Given the description of an element on the screen output the (x, y) to click on. 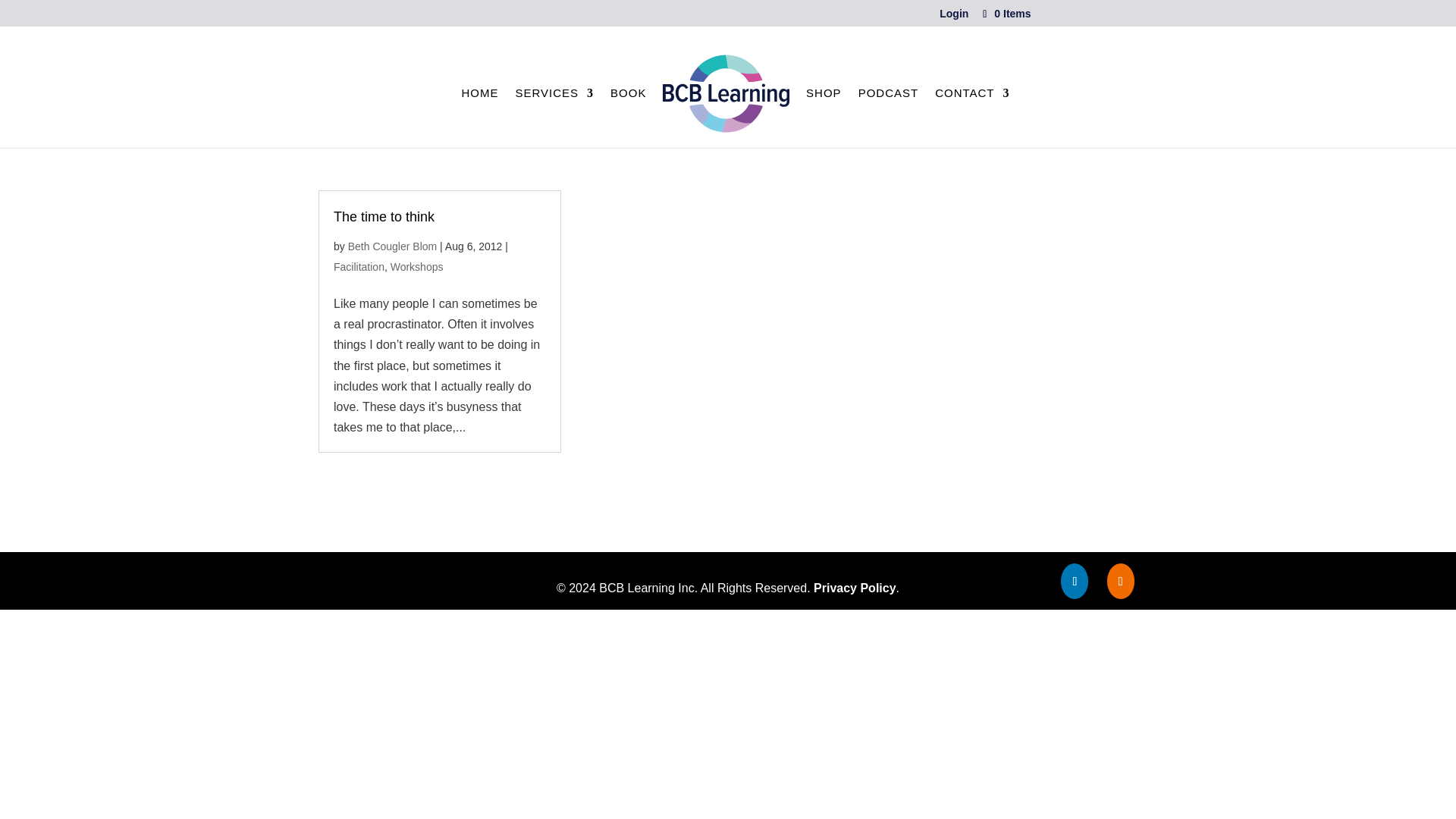
Login (953, 16)
Beth Cougler Blom (392, 246)
HOME (479, 100)
Facilitation (358, 266)
The time to think (383, 216)
CONTACT (971, 100)
PODCAST (888, 100)
Workshops (417, 266)
0 Items (1004, 13)
SERVICES (554, 100)
